Given the description of an element on the screen output the (x, y) to click on. 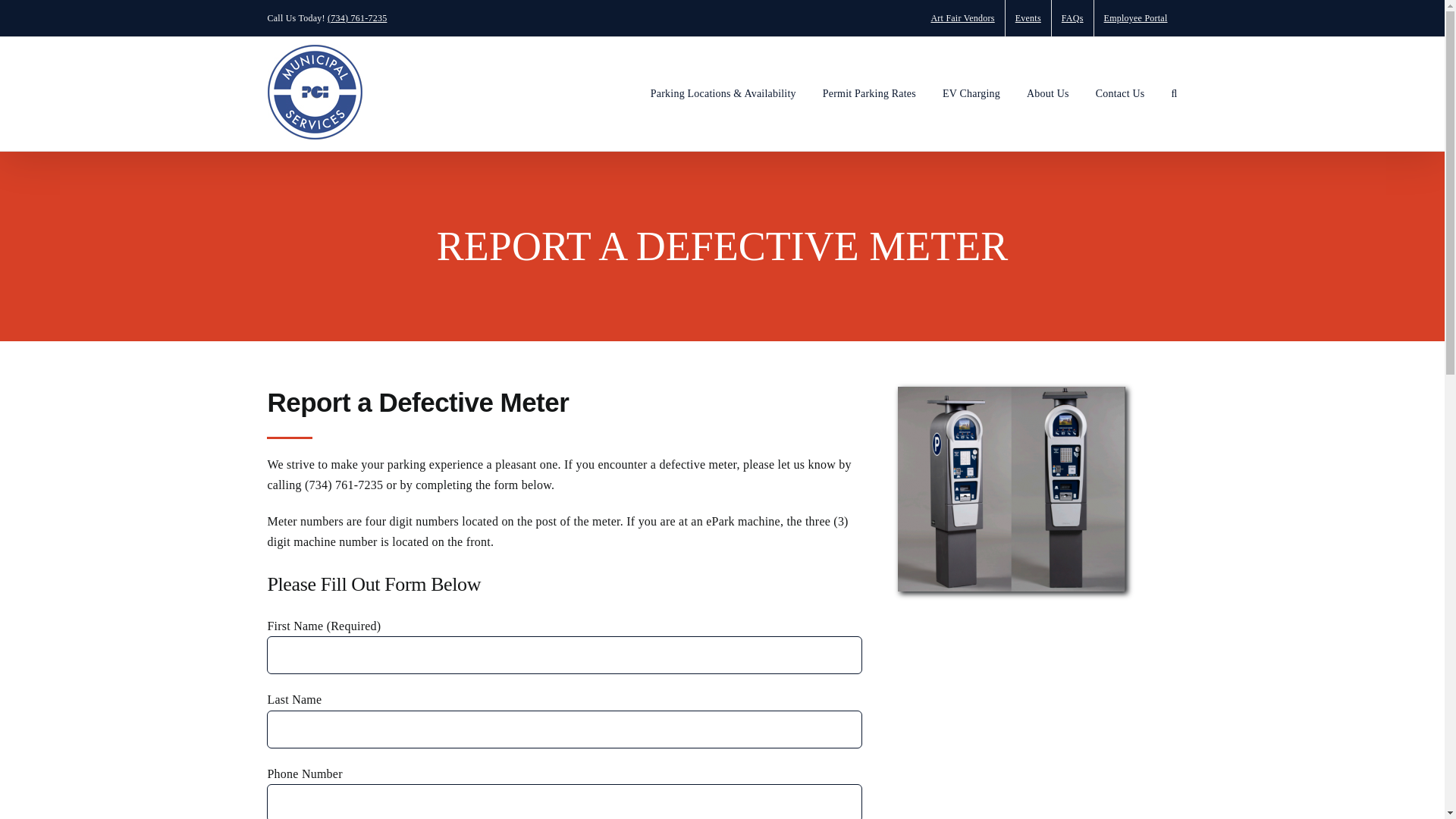
FAQs (1072, 18)
Employee Portal (1135, 18)
Events (1028, 18)
Art Fair Vendors (962, 18)
